Given the description of an element on the screen output the (x, y) to click on. 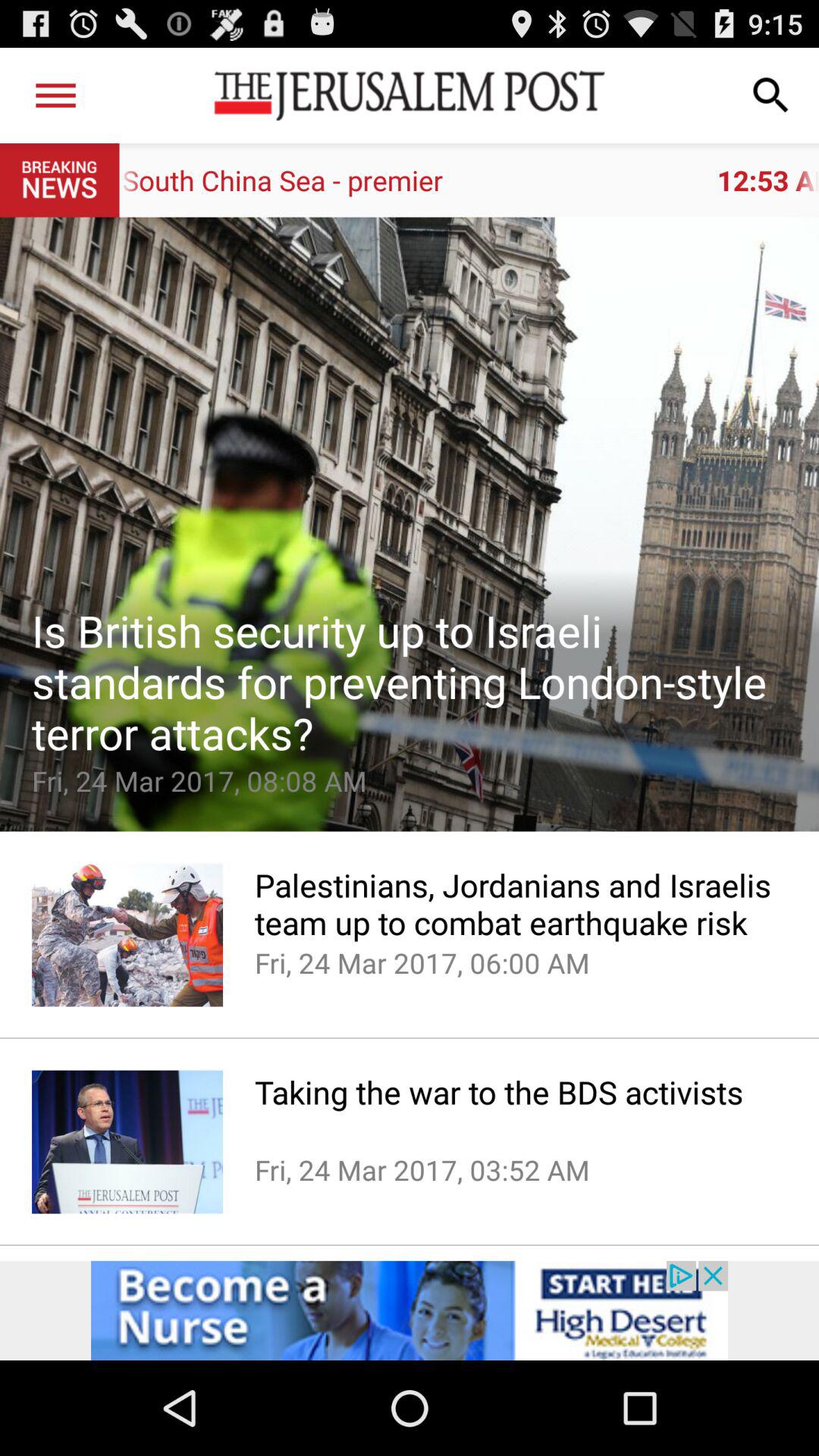
choose app below the 12 53 am item (409, 524)
